Given the description of an element on the screen output the (x, y) to click on. 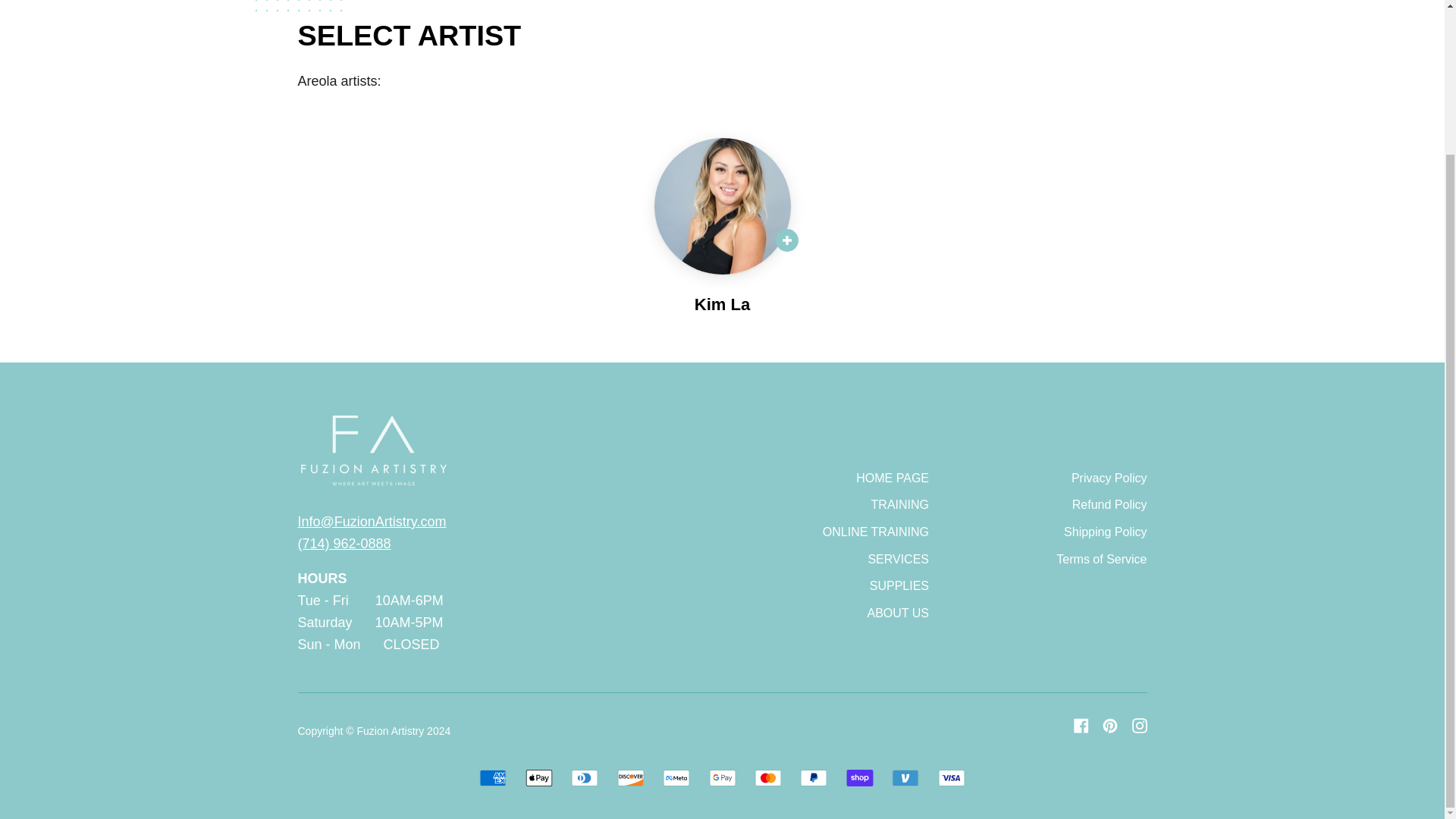
Apple Pay (539, 777)
Google Pay (721, 777)
Diners Club (584, 777)
Fuzion Artistry on Instagram (1139, 725)
Mastercard (767, 777)
PayPal (812, 777)
American Express (492, 777)
Shop Pay (859, 777)
Fuzion Artistry on Pinterest (1110, 725)
Discover (630, 777)
